Given the description of an element on the screen output the (x, y) to click on. 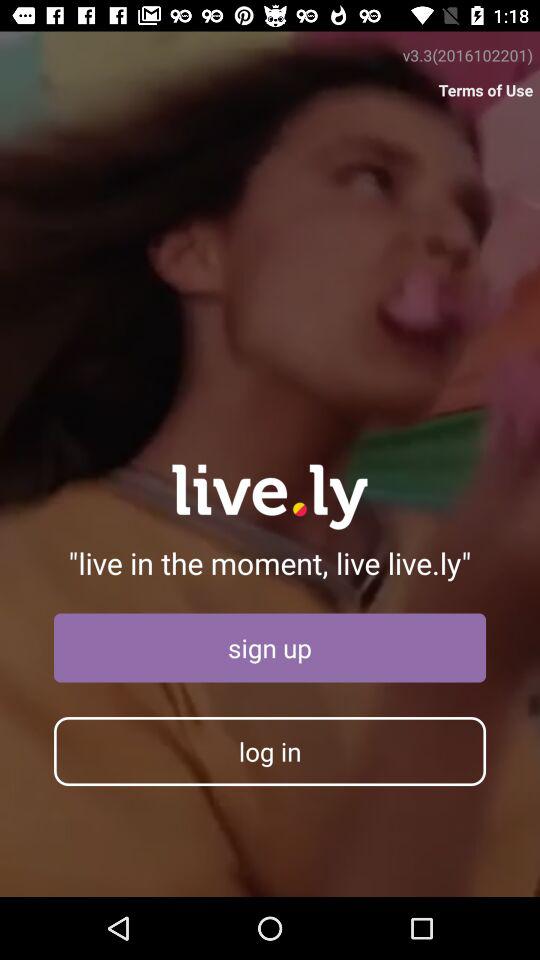
flip until the terms of use icon (486, 89)
